Given the description of an element on the screen output the (x, y) to click on. 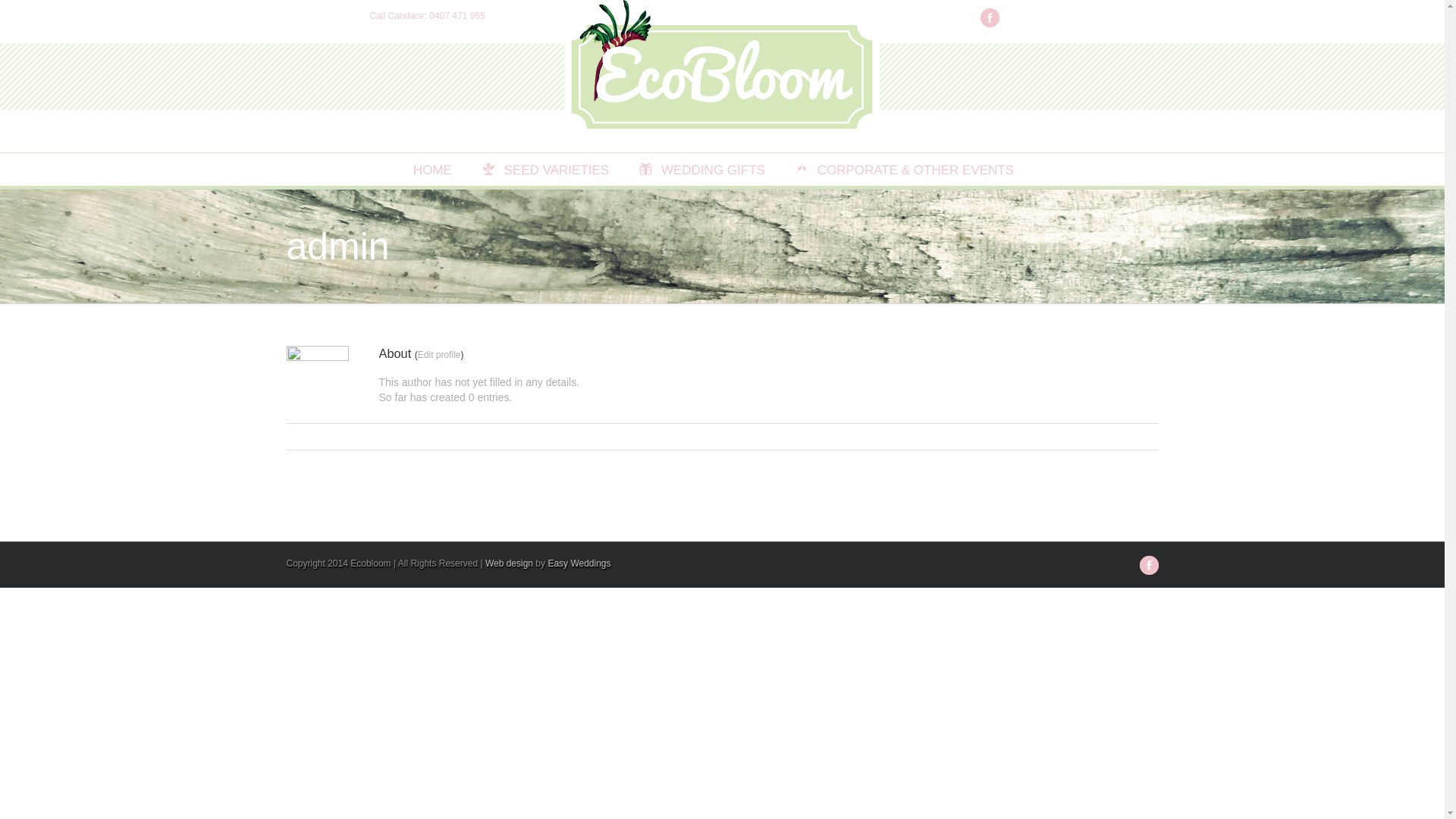
HOME Element type: text (427, 169)
Facebook Element type: text (988, 17)
SEED VARIETIES Element type: text (545, 169)
WEDDING GIFTS Element type: text (702, 169)
Web design Element type: text (509, 563)
Easy Weddings Element type: text (578, 563)
Facebook Element type: text (1148, 564)
CORPORATE & OTHER EVENTS Element type: text (904, 169)
Edit profile Element type: text (439, 354)
